Given the description of an element on the screen output the (x, y) to click on. 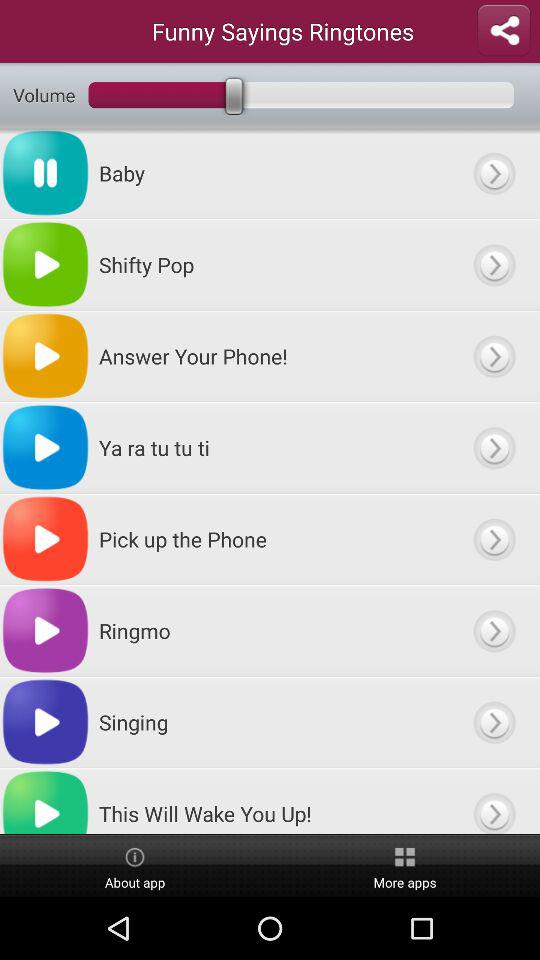
toggle selected option (494, 539)
